Given the description of an element on the screen output the (x, y) to click on. 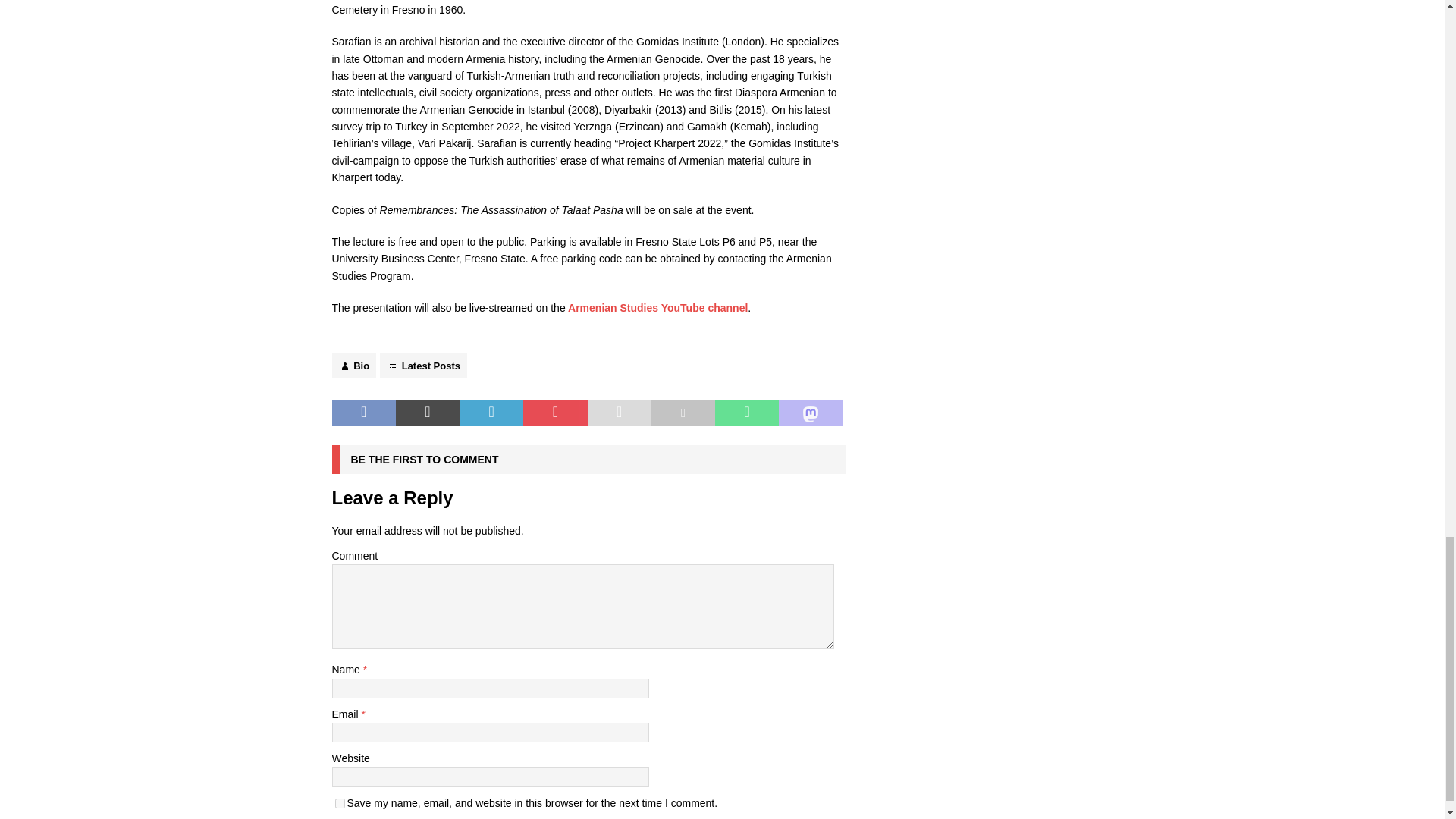
yes (339, 803)
